Given the description of an element on the screen output the (x, y) to click on. 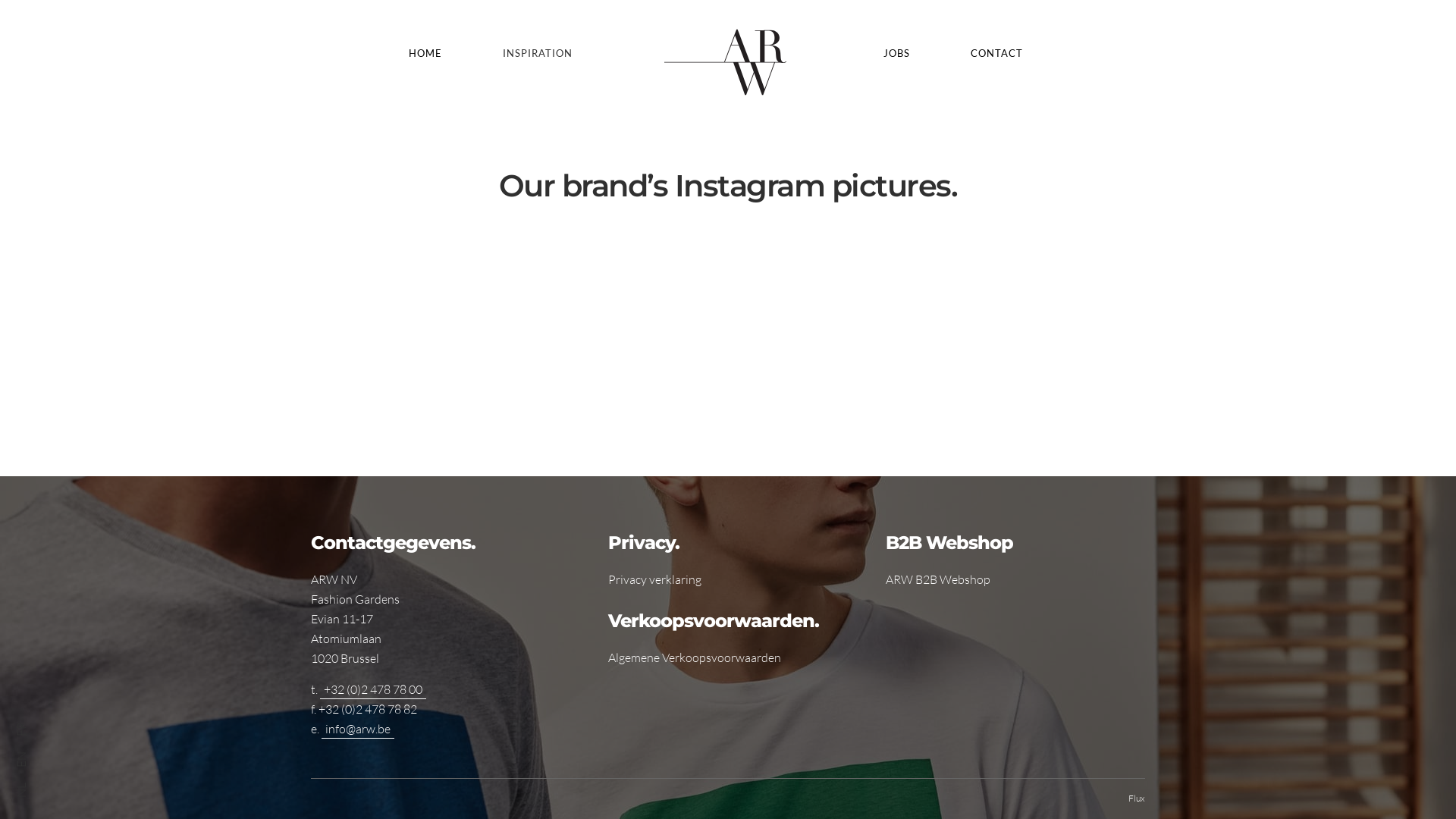
CONTACT Element type: text (996, 53)
HOME Element type: text (425, 53)
EN Element type: text (24, 754)
+32 (0)2 478 78 00 Element type: text (373, 689)
JOBS Element type: text (896, 53)
INSPIRATION Element type: text (537, 53)
Privacy verklaring Element type: text (654, 578)
NL Element type: text (24, 786)
FR Element type: text (24, 725)
Flux Element type: text (1136, 798)
info@arw.be Element type: text (357, 728)
Algemene Verkoopsvoorwaarden Element type: text (694, 657)
ARW B2B Webshop Element type: text (937, 578)
